Given the description of an element on the screen output the (x, y) to click on. 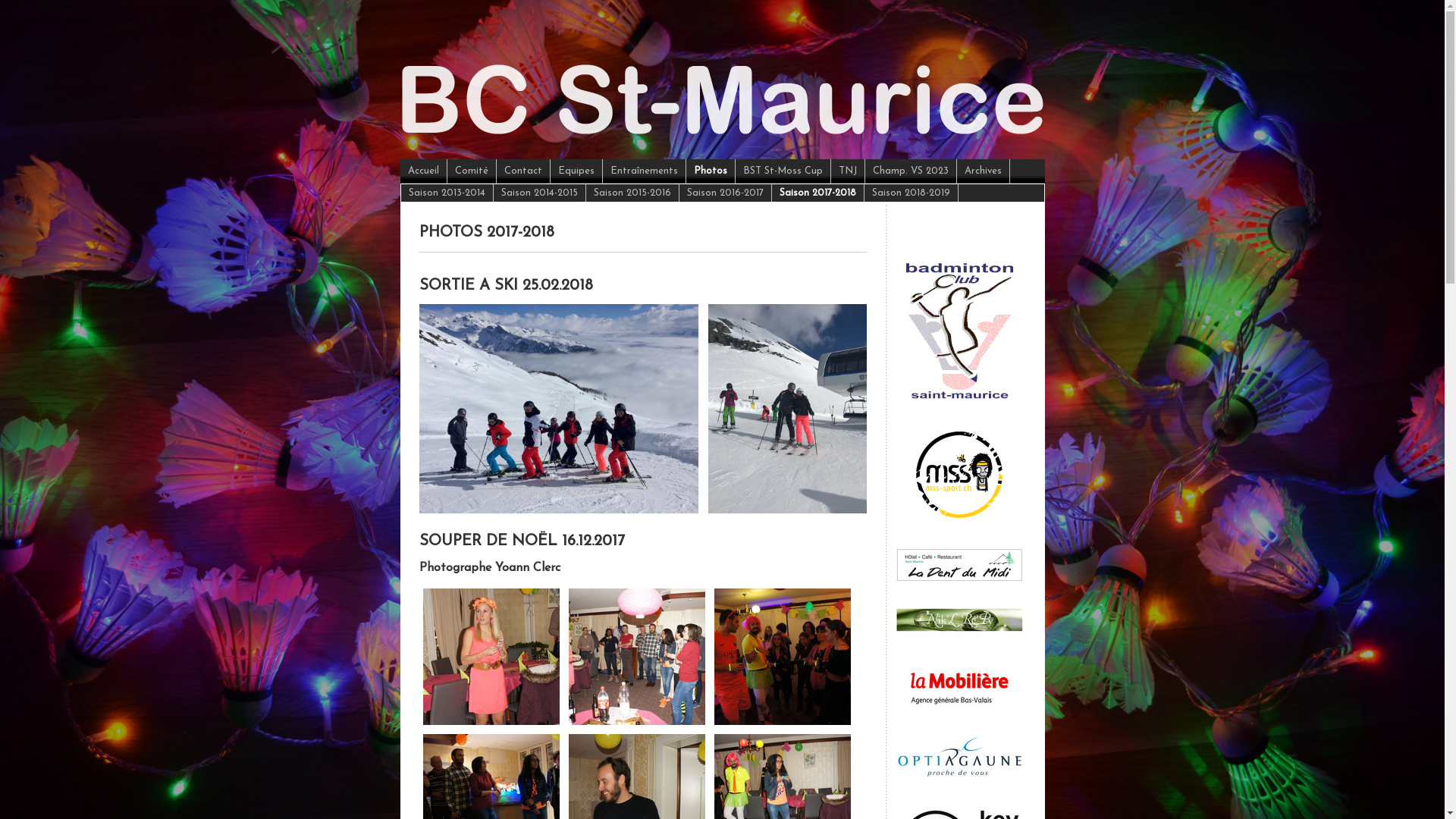
Champ. VS 2023 Element type: text (910, 171)
Saison 2014-2015 Element type: text (538, 193)
Accueil Element type: text (423, 171)
BST St-Moss Cup Element type: text (783, 171)
Contact Element type: text (522, 171)
Saison 2018-2019 Element type: text (911, 193)
TNJ Element type: text (848, 171)
Saison 2017-2018 Element type: text (817, 193)
Saison 2013-2014 Element type: text (446, 193)
Photos Element type: text (709, 171)
Saison 2016-2017 Element type: text (725, 193)
Archives Element type: text (983, 171)
Equipes Element type: text (576, 171)
Saison 2015-2016 Element type: text (631, 193)
